Given the description of an element on the screen output the (x, y) to click on. 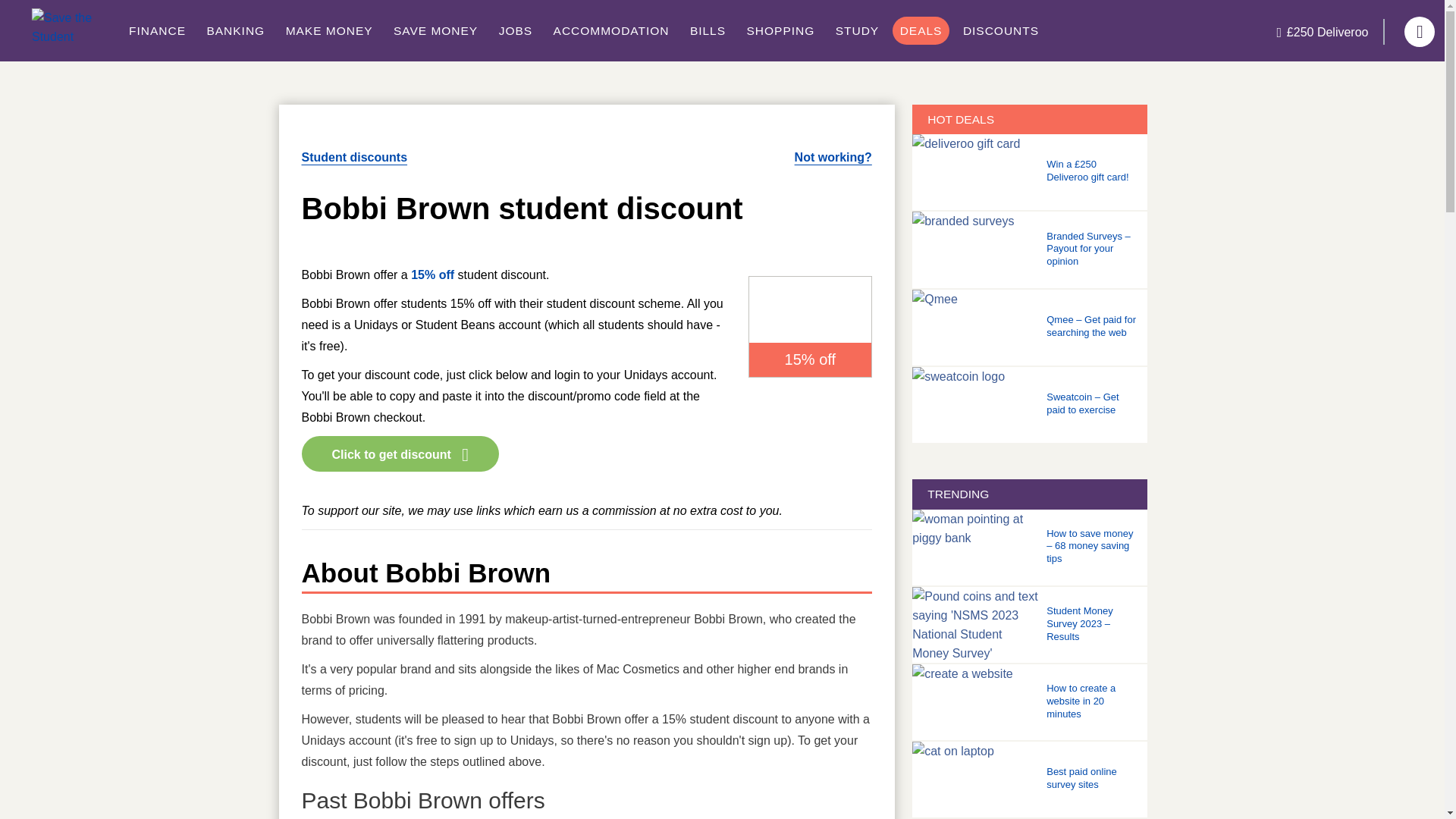
Shopping (780, 30)
Discounts (1000, 30)
Make Money (329, 30)
SAVE MONEY (434, 30)
FINANCE (156, 30)
Save Money (434, 30)
Student Finance (156, 30)
MAKE MONEY (329, 30)
Study Tips (857, 30)
Student Accommodation (611, 30)
